Given the description of an element on the screen output the (x, y) to click on. 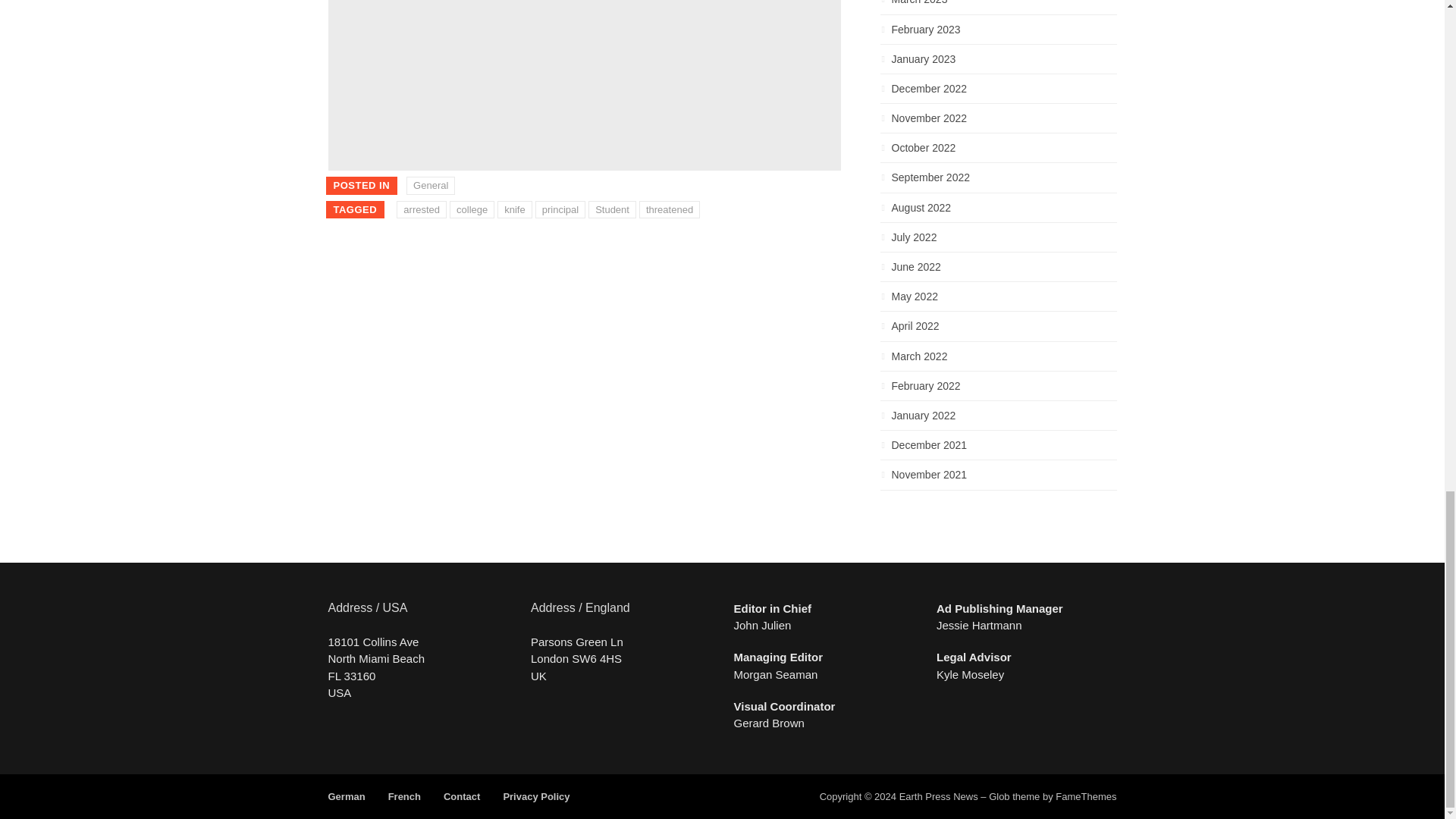
threatened (669, 209)
knife (514, 209)
college (472, 209)
arrested (421, 209)
principal (560, 209)
Student (612, 209)
Advertisement (583, 85)
General (430, 185)
